Given the description of an element on the screen output the (x, y) to click on. 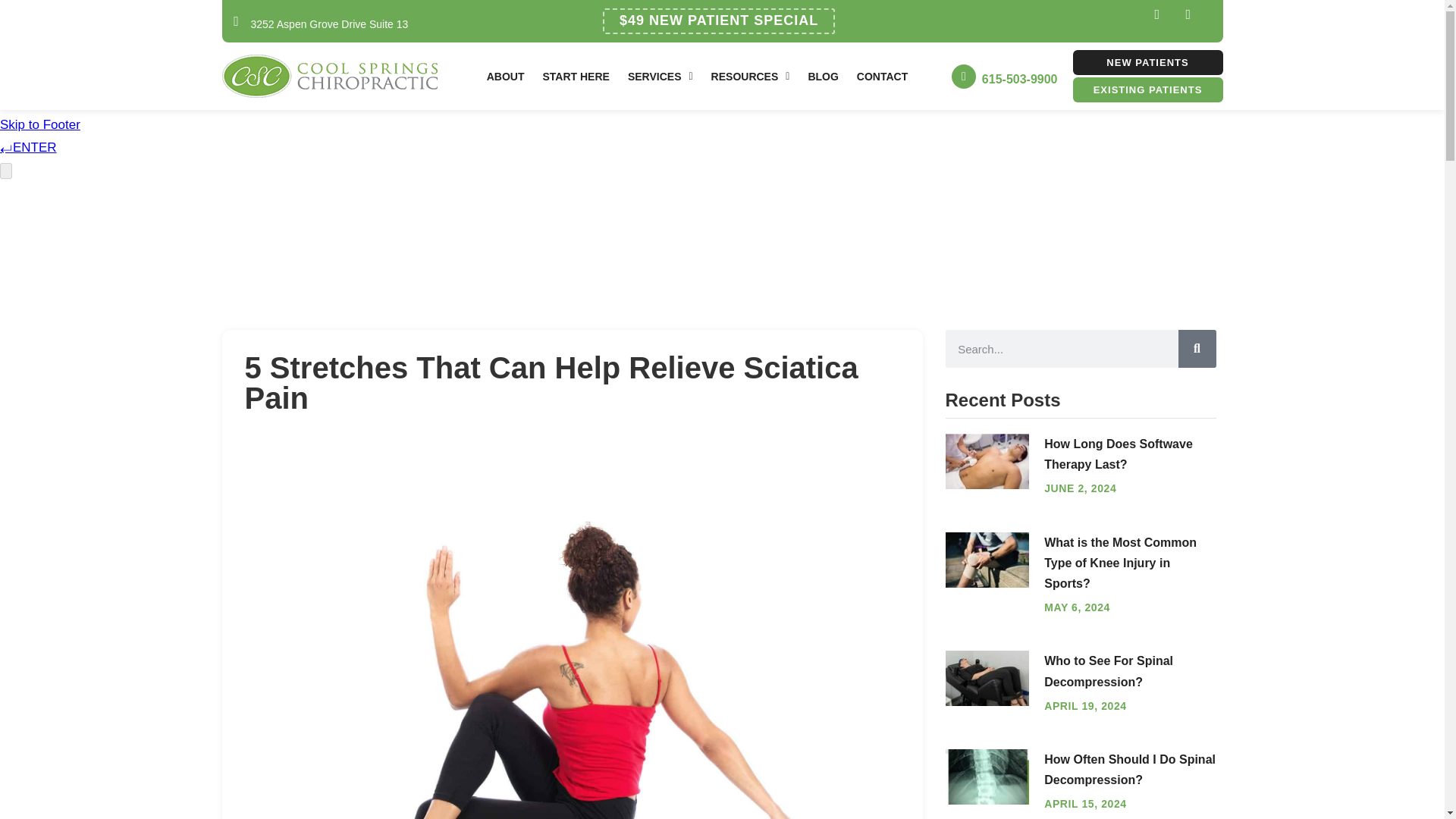
RESOURCES (750, 76)
5 Stretches That Can Help Relieve Sciatica Pain (986, 679)
What is the Most Common Type of Knee Injury in Sports? (986, 559)
How Long Does Softwave Therapy Last? (986, 461)
CONTACT (882, 76)
BLOG (822, 76)
615-503-9900 (1019, 78)
5 Stretches That Can Help Relieve Sciatica Pain (328, 75)
5 Stretches That Can Help Relieve Sciatica Pain (986, 776)
START HERE (576, 76)
SERVICES (659, 76)
NEW PATIENTS (1147, 62)
3252 Aspen Grove Drive Suite 13 (328, 24)
ABOUT (505, 76)
